Given the description of an element on the screen output the (x, y) to click on. 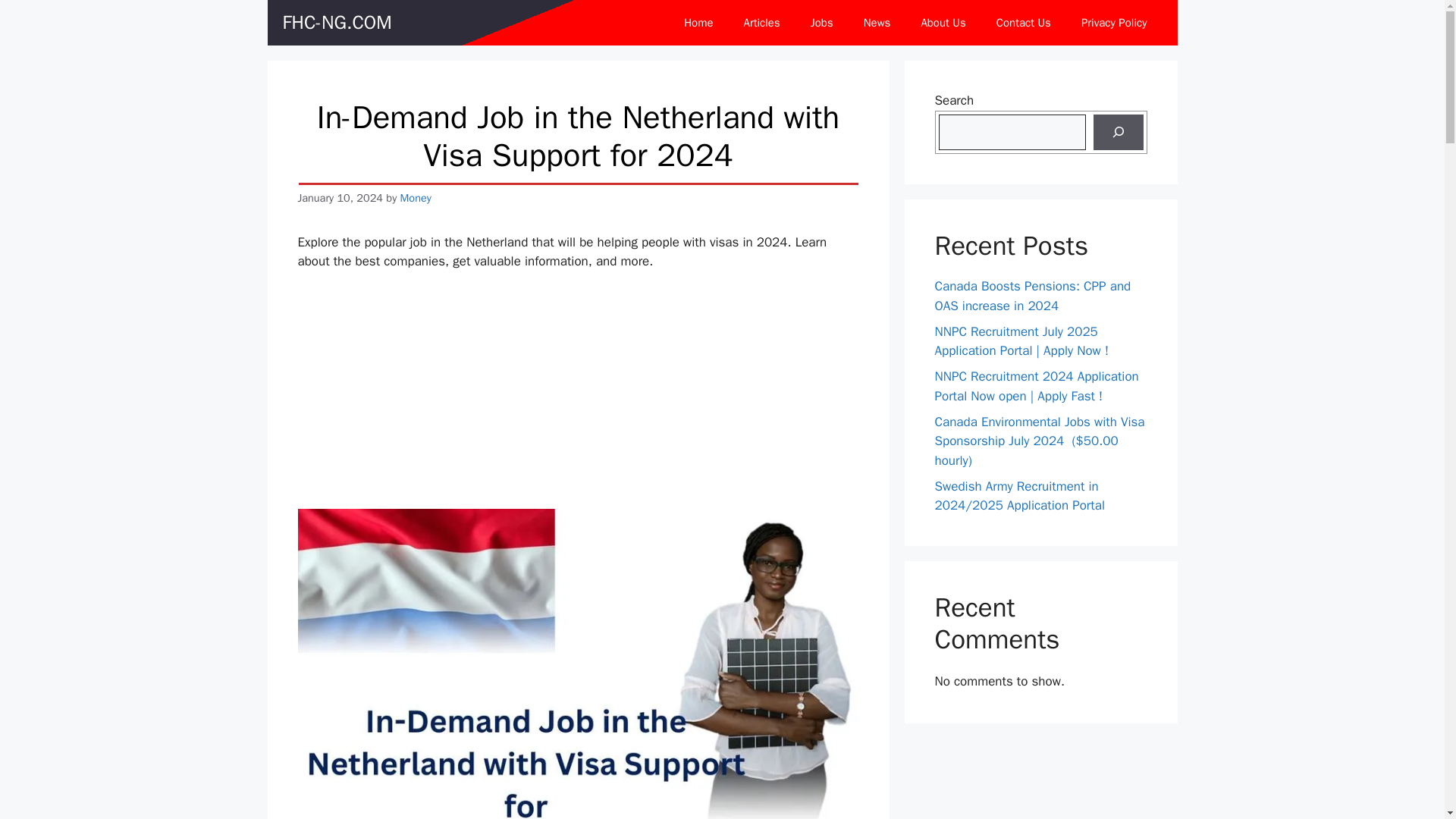
FHC-NG.COM (336, 22)
News (876, 22)
Home (698, 22)
View all posts by Money (415, 197)
Jobs (821, 22)
Contact Us (1023, 22)
Advertisement (600, 396)
Articles (761, 22)
Money (415, 197)
About Us (942, 22)
Privacy Policy (1113, 22)
